Given the description of an element on the screen output the (x, y) to click on. 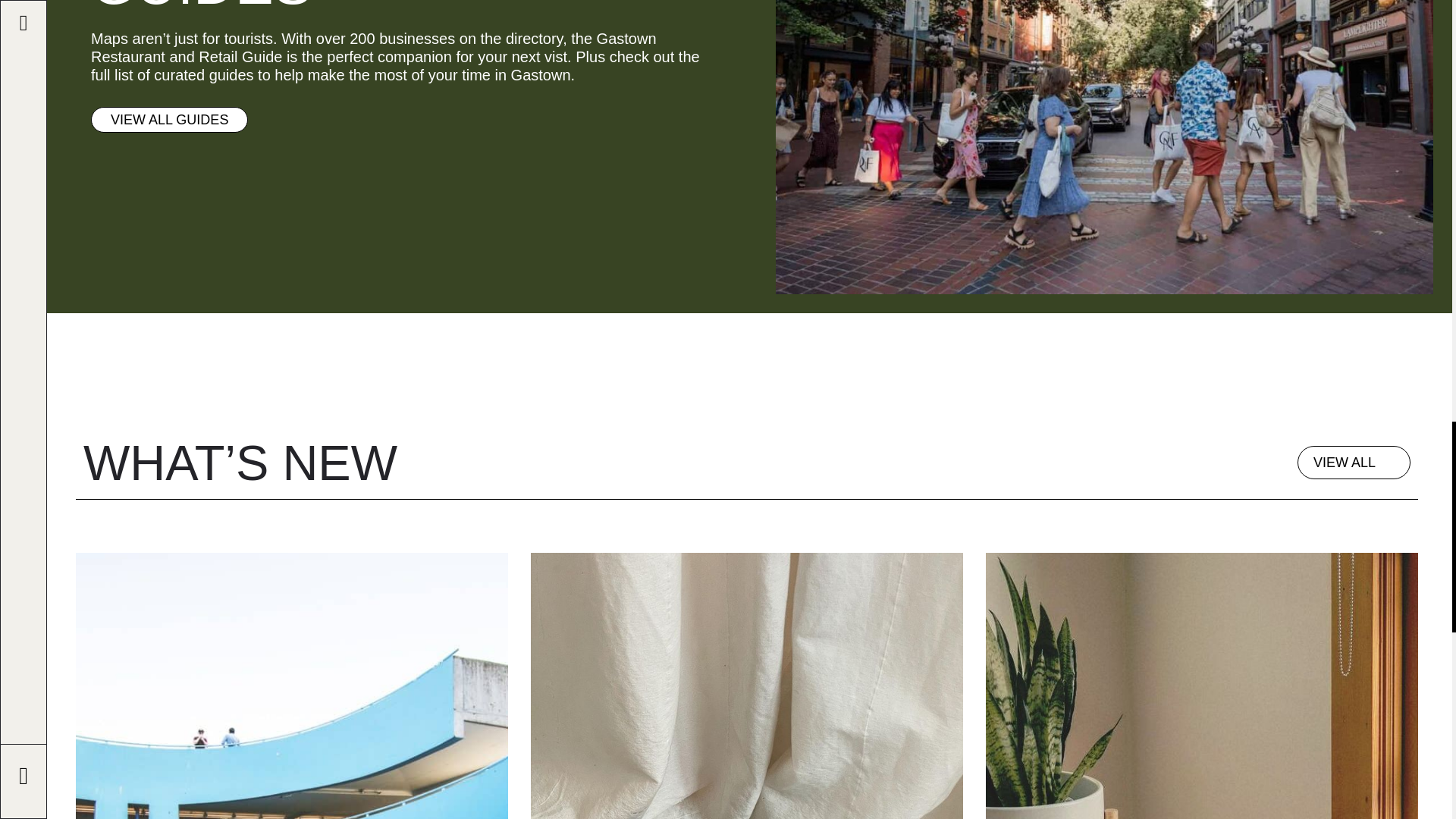
VIEW ALL (1353, 462)
VIEW ALL GUIDES (168, 119)
